Given the description of an element on the screen output the (x, y) to click on. 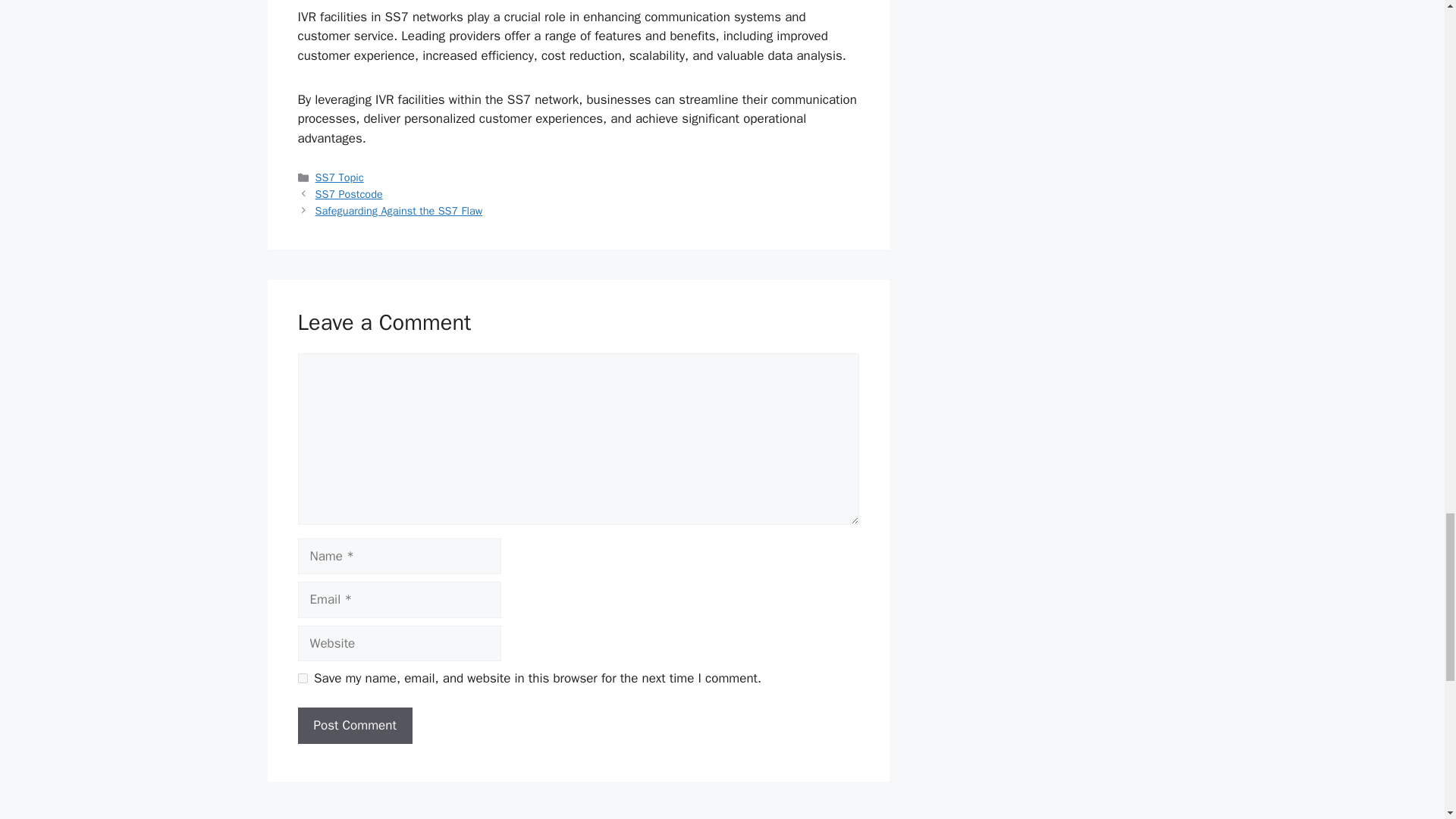
SS7 Postcode (348, 193)
Post Comment (354, 725)
SS7 Topic (339, 177)
Safeguarding Against the SS7 Flaw (399, 210)
yes (302, 678)
Post Comment (354, 725)
